Given the description of an element on the screen output the (x, y) to click on. 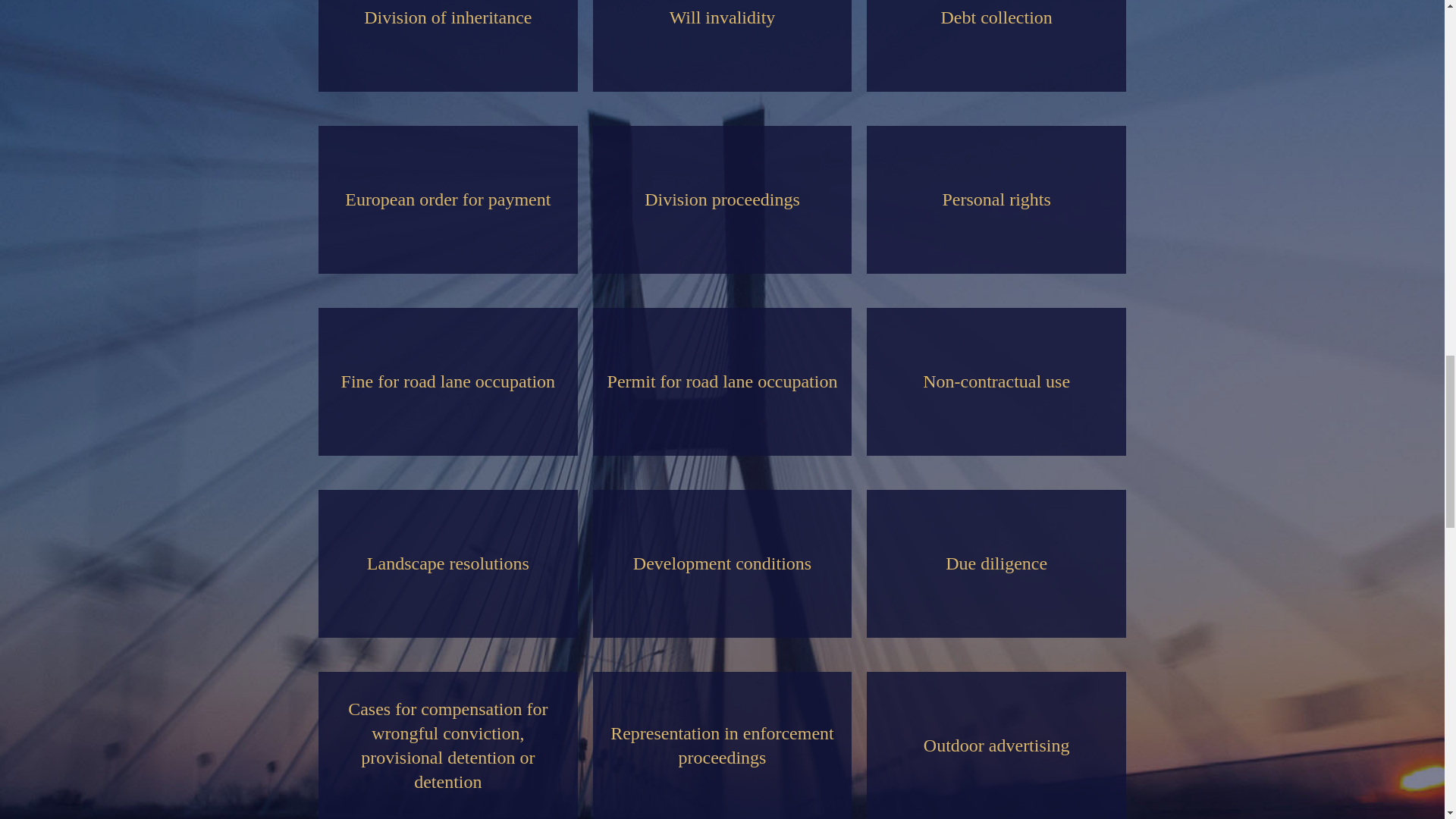
Permit for road lane occupation (721, 381)
Division proceedings (721, 199)
Development conditions (721, 563)
Outdoor advertising (995, 745)
Landscape resolutions (448, 563)
Representation in enforcement proceedings (721, 745)
Fine for road lane occupation (448, 381)
Debt collection (995, 45)
Will invalidity (721, 45)
Personal rights (995, 199)
Due diligence (995, 563)
European order for payment (448, 199)
Division of inheritance (448, 45)
Non-contractual use (995, 381)
